Given the description of an element on the screen output the (x, y) to click on. 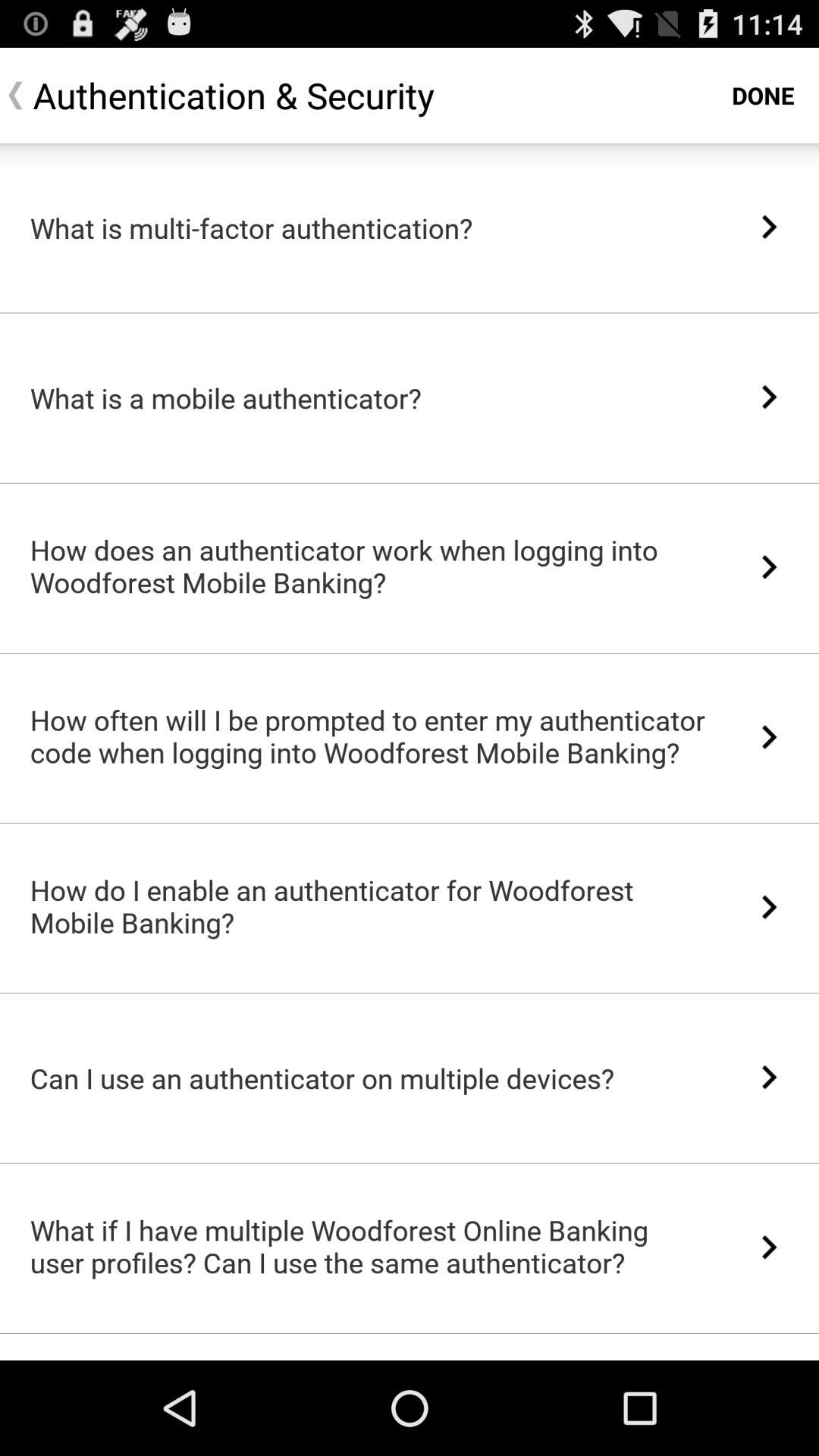
tap item below the done icon (768, 226)
